Given the description of an element on the screen output the (x, y) to click on. 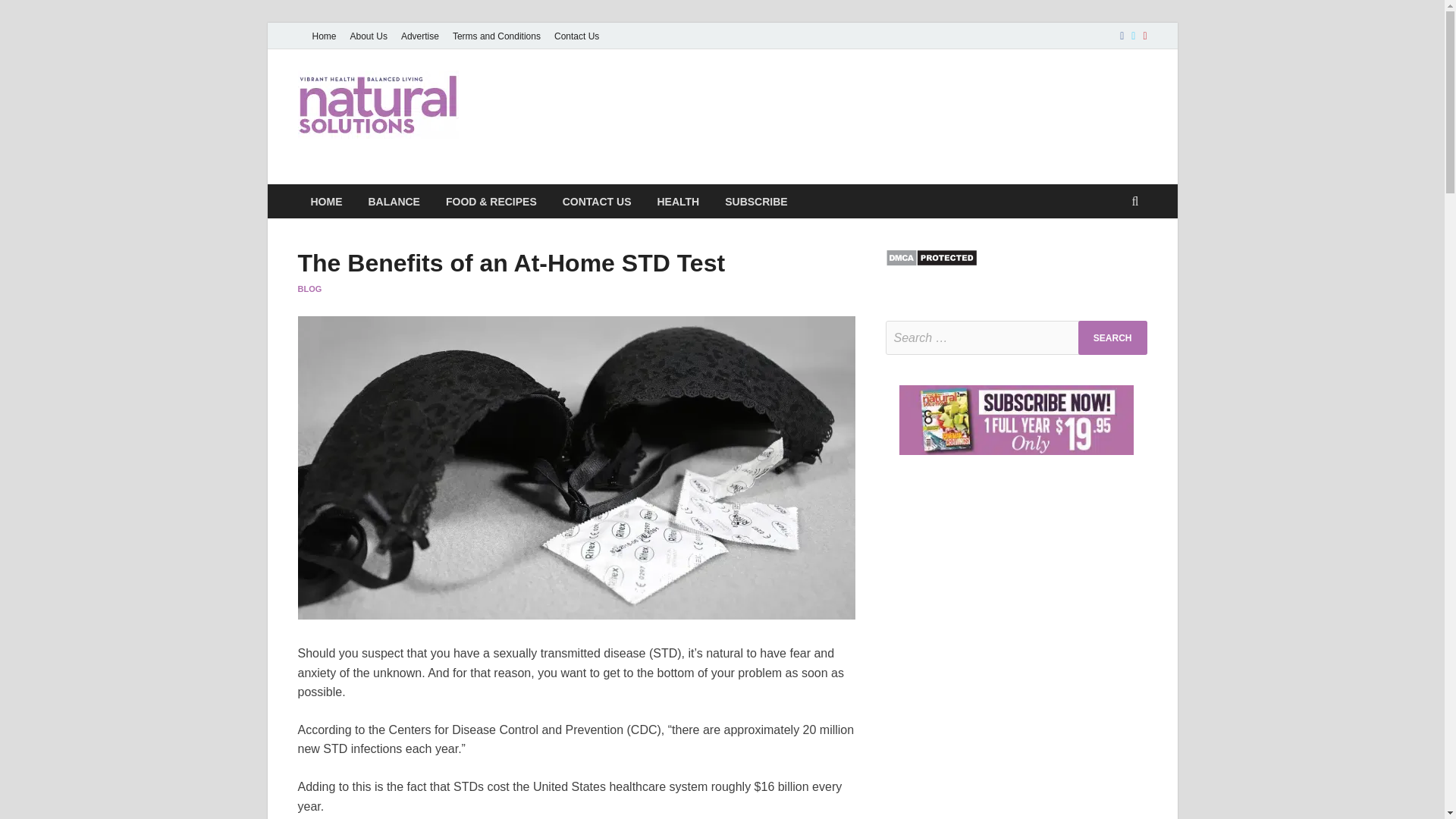
Search (1112, 337)
Terms and Conditions (496, 35)
Search (1112, 337)
BALANCE (393, 201)
About Us (368, 35)
Home (323, 35)
Contact Us (576, 35)
DMCA.com Protection Status (930, 262)
BLOG (309, 288)
Advertise (419, 35)
HOME (326, 201)
HEALTH (677, 201)
CONTACT US (597, 201)
SUBSCRIBE (755, 201)
